Given the description of an element on the screen output the (x, y) to click on. 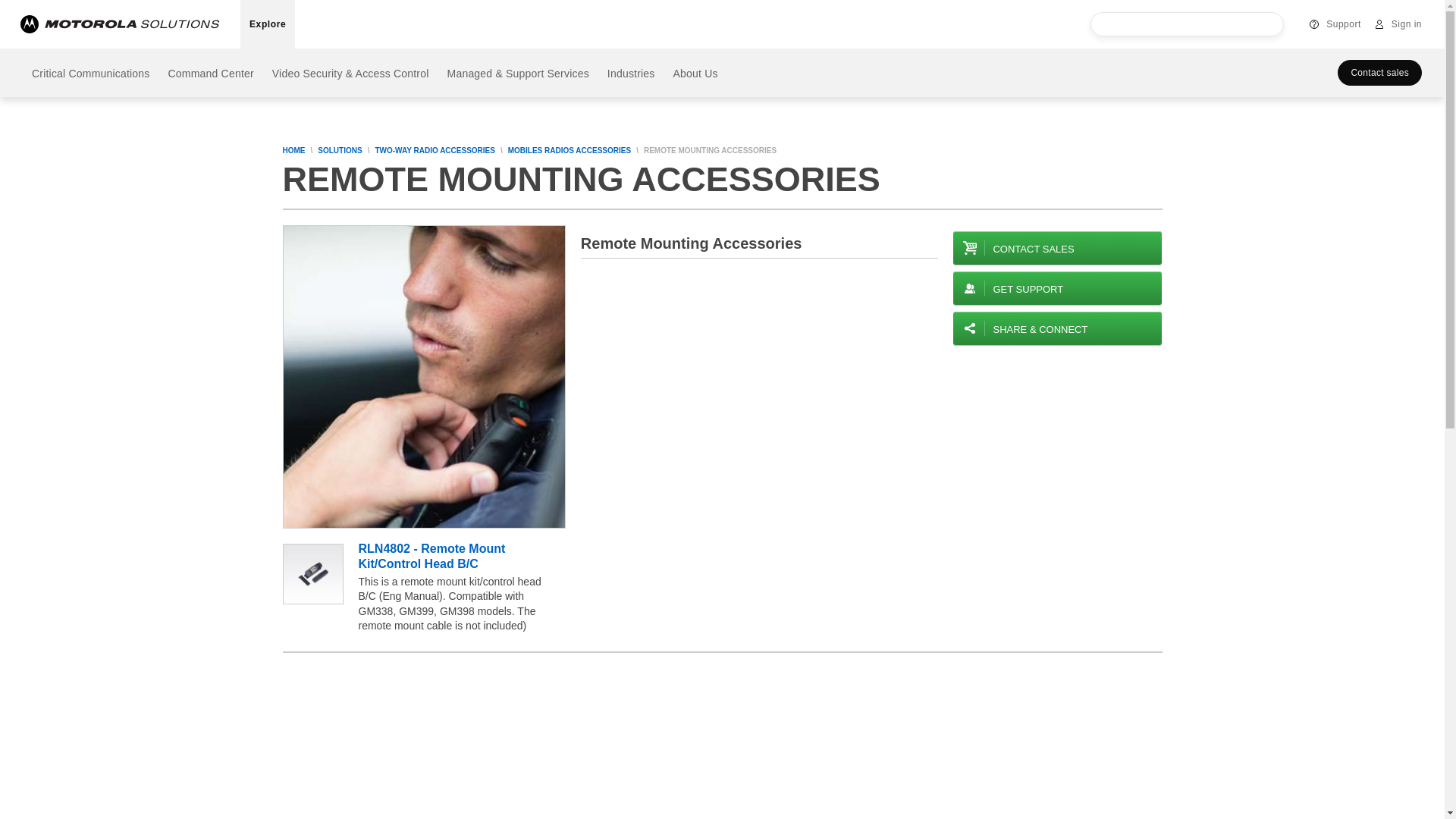
Support (1334, 23)
Get Support (1057, 287)
Two-Way Radio Accessories (437, 150)
Primary Navigation (136, 6)
Sign in (1397, 23)
Footer (316, 6)
Contact sales (1057, 247)
Explore (267, 24)
Home (296, 150)
Main Content (243, 6)
